Given the description of an element on the screen output the (x, y) to click on. 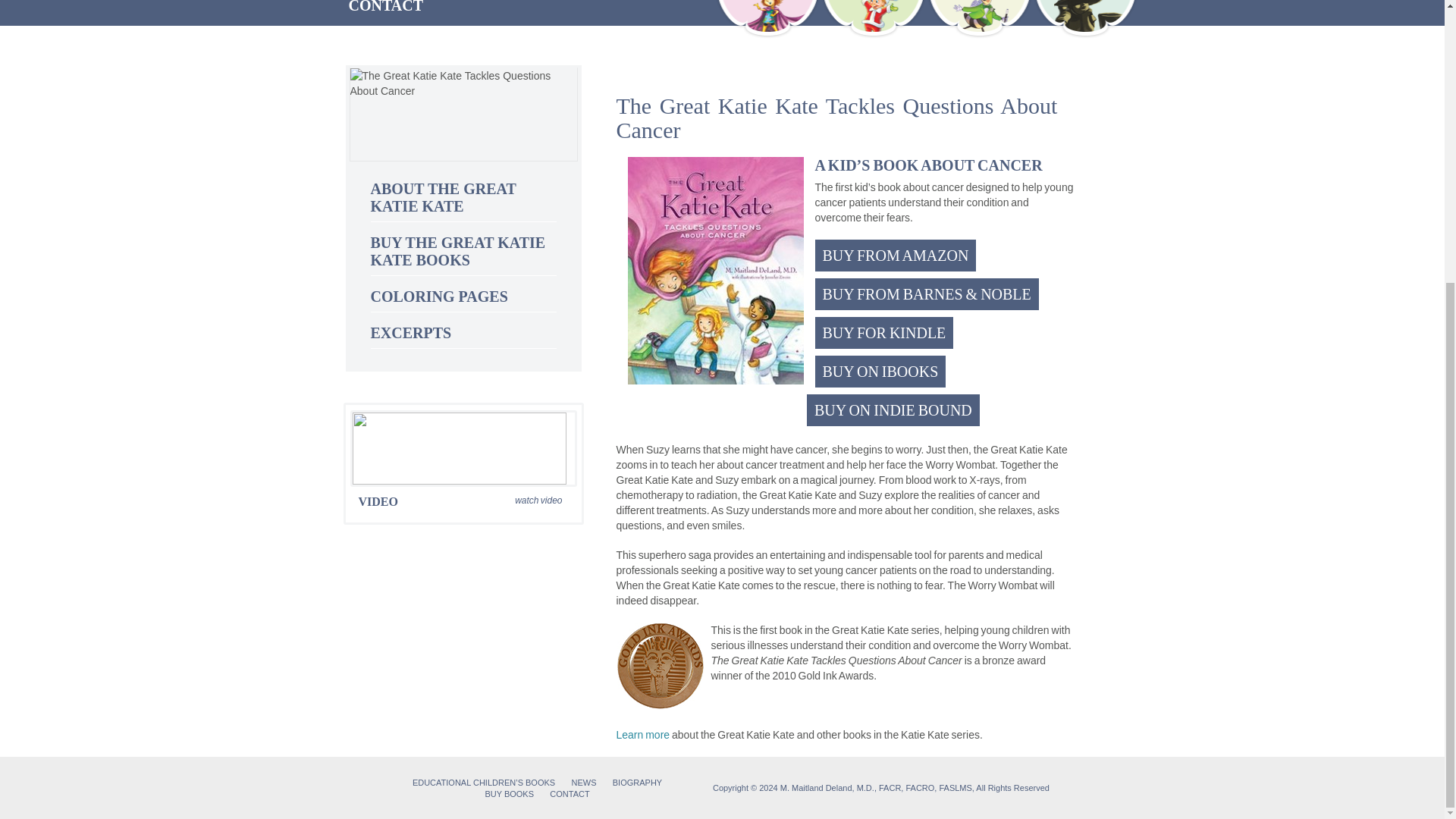
The Great Katie Kate (767, 19)
EXCERPTS (410, 332)
Learn more (642, 734)
Fishing for Flowers (1085, 19)
NEWS (582, 782)
Busy Bees (979, 19)
CONTACT (386, 6)
BUY THE GREAT KATIE KATE BOOKS (456, 251)
watch (463, 448)
BUY FROM AMAZON (894, 255)
